Given the description of an element on the screen output the (x, y) to click on. 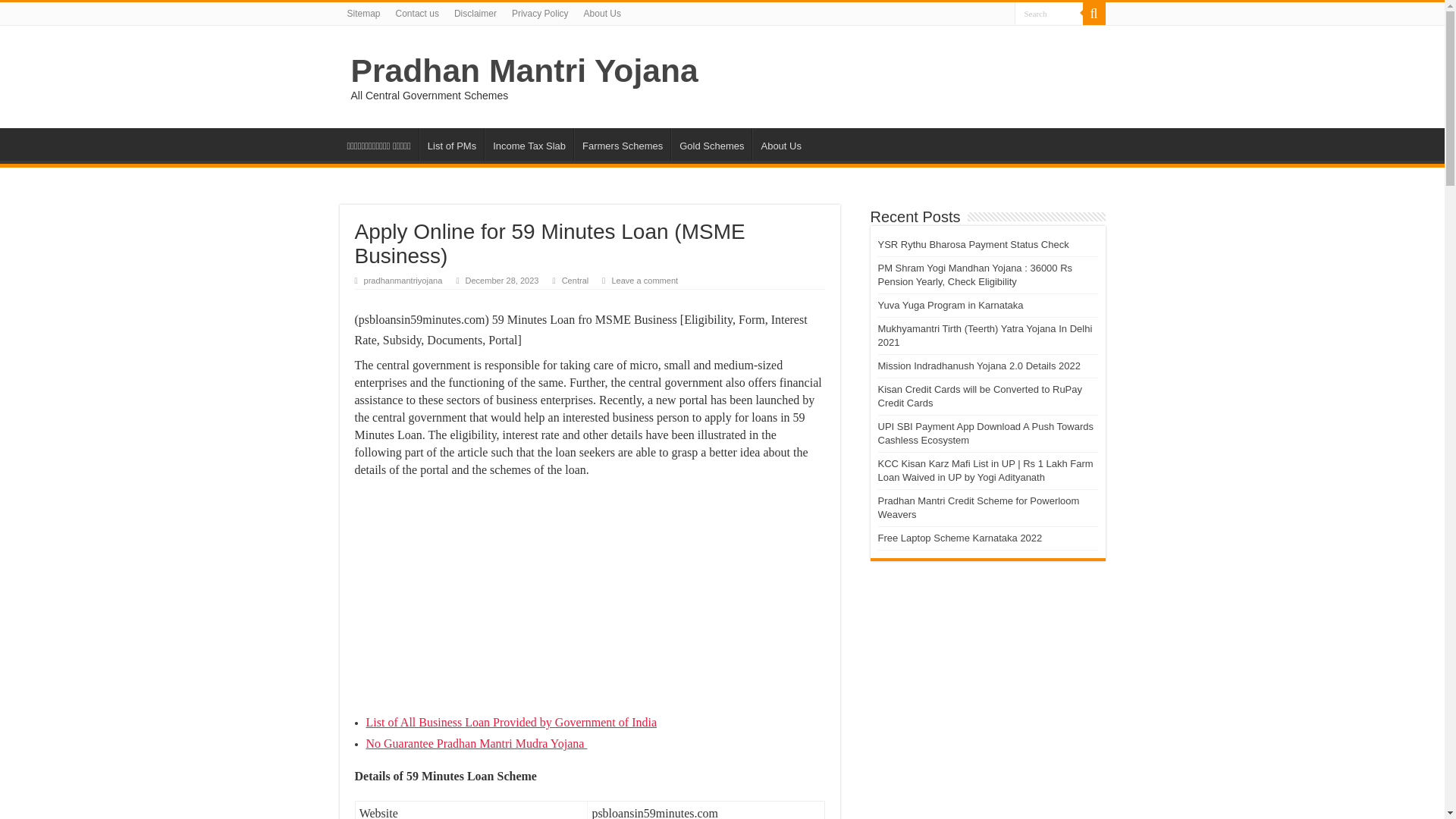
Farmers Schemes (621, 143)
Mission Indradhanush Yojana 2.0 Details 2022 (978, 365)
Advertisement (590, 600)
Gold Schemes (711, 143)
About Us (602, 13)
About Us (780, 143)
Kisan Credit Cards will be Converted to RuPay Credit Cards (980, 396)
Search (1048, 13)
YSR Rythu Bharosa Payment Status Check  (974, 244)
Sitemap (363, 13)
Leave a comment (644, 280)
Search (1048, 13)
Privacy Policy (539, 13)
